Given the description of an element on the screen output the (x, y) to click on. 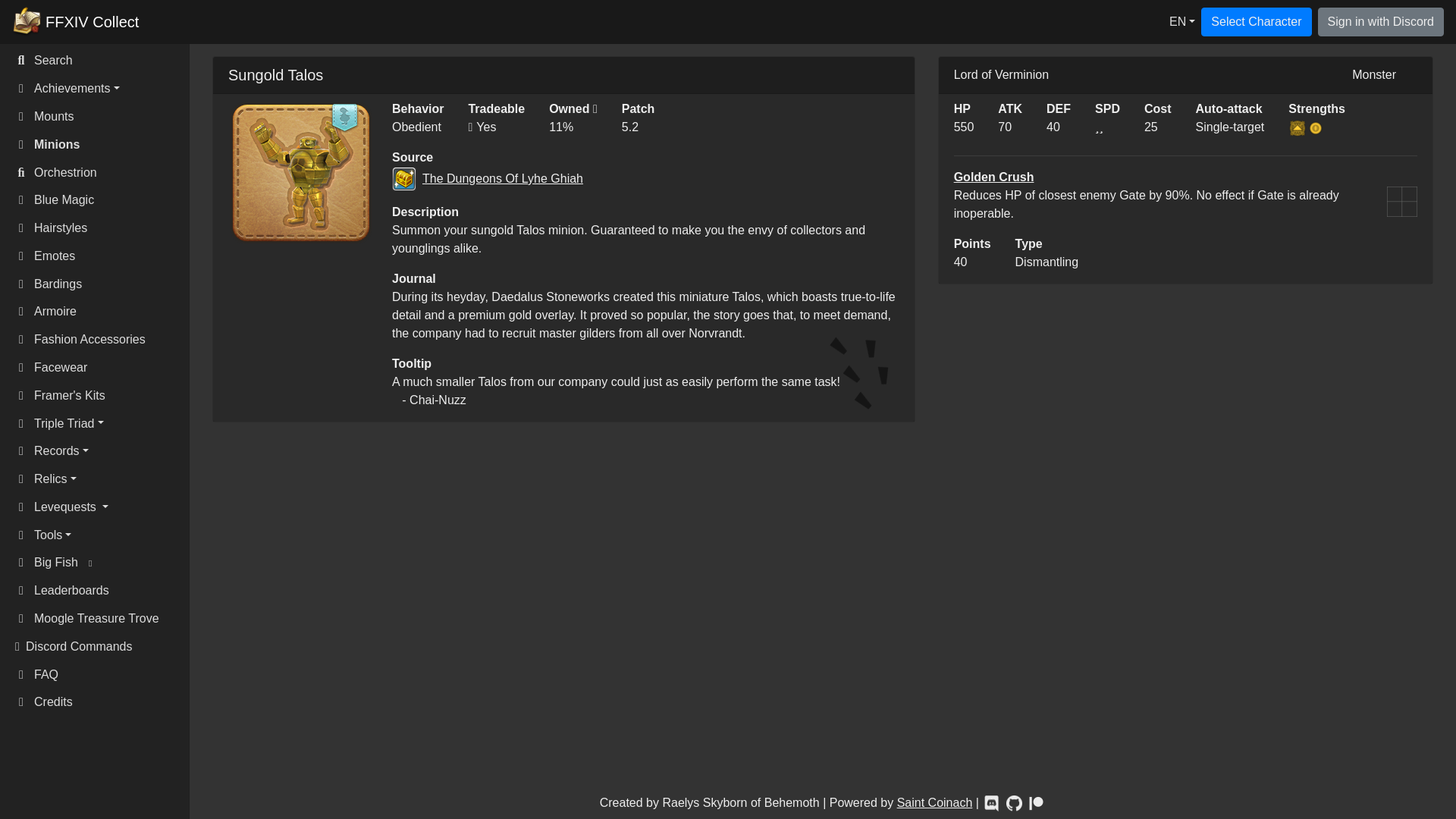
Facewear (100, 367)
Sign in with Discord (1380, 21)
Mounts (100, 117)
Orchestrion (100, 172)
Blue Magic (100, 200)
EN (1182, 22)
Bardings (100, 284)
Armoire (100, 311)
Emotes (100, 255)
Framer's Kits (100, 395)
